Given the description of an element on the screen output the (x, y) to click on. 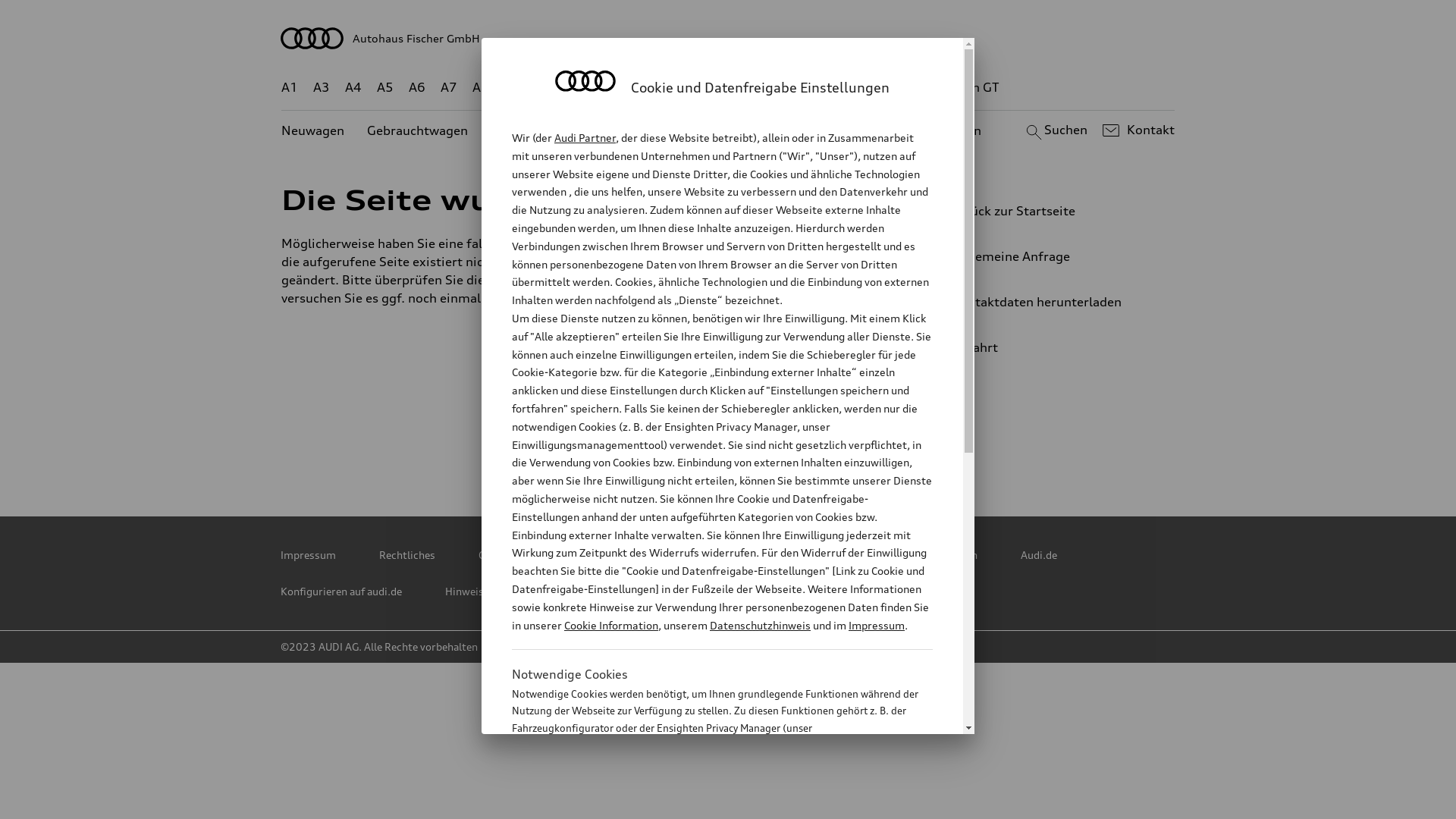
Instagram Element type: hover (863, 444)
Hinweisgebersystem Element type: text (495, 591)
Q4 e-tron Element type: text (598, 87)
e-tron GT Element type: text (970, 87)
Gebrauchtwagen Element type: text (417, 130)
Q2 Element type: text (512, 87)
Audi Partner Element type: text (584, 137)
Kontaktdaten herunterladen Element type: text (1043, 301)
A6 Element type: text (416, 87)
Angebote Element type: text (641, 130)
Konfigurieren auf audi.de Element type: text (340, 591)
Pinterest Element type: hover (663, 444)
Datenschutzhinweis Element type: text (759, 624)
Allgemeine Anfrage Element type: text (1043, 256)
RS Element type: text (866, 87)
Facebook Element type: hover (730, 444)
Cookie und Datenfreigabe Einstellungen Element type: text (881, 554)
A5 Element type: text (384, 87)
Q8 Element type: text (715, 87)
Kundenservice Element type: text (736, 130)
A8 Element type: text (480, 87)
Twitter Element type: hover (596, 444)
A3 Element type: text (321, 87)
Cookie Policy Element type: text (711, 554)
Q5 Element type: text (650, 87)
Cookie Information Element type: text (705, 802)
A1 Element type: text (289, 87)
Anfahrt Element type: text (1049, 347)
Rechtliches Element type: text (407, 554)
Audi.de Element type: text (1038, 554)
Q7 Element type: text (683, 87)
Cookie Information Element type: text (611, 624)
Impressum Element type: text (876, 624)
Q3 Element type: text (545, 87)
Autohaus Fischer GmbH Element type: text (727, 38)
A4 Element type: text (353, 87)
Suchen Element type: text (1054, 130)
Impressum Element type: text (307, 554)
g-tron Element type: text (908, 87)
Kontakt Element type: text (1135, 130)
Q8 e-tron Element type: text (768, 87)
TT Element type: text (820, 87)
Copyright & Haftungsausschluss Element type: text (557, 554)
Neuwagen Element type: text (312, 130)
A7 Element type: text (448, 87)
YouTube Element type: hover (796, 444)
